Given the description of an element on the screen output the (x, y) to click on. 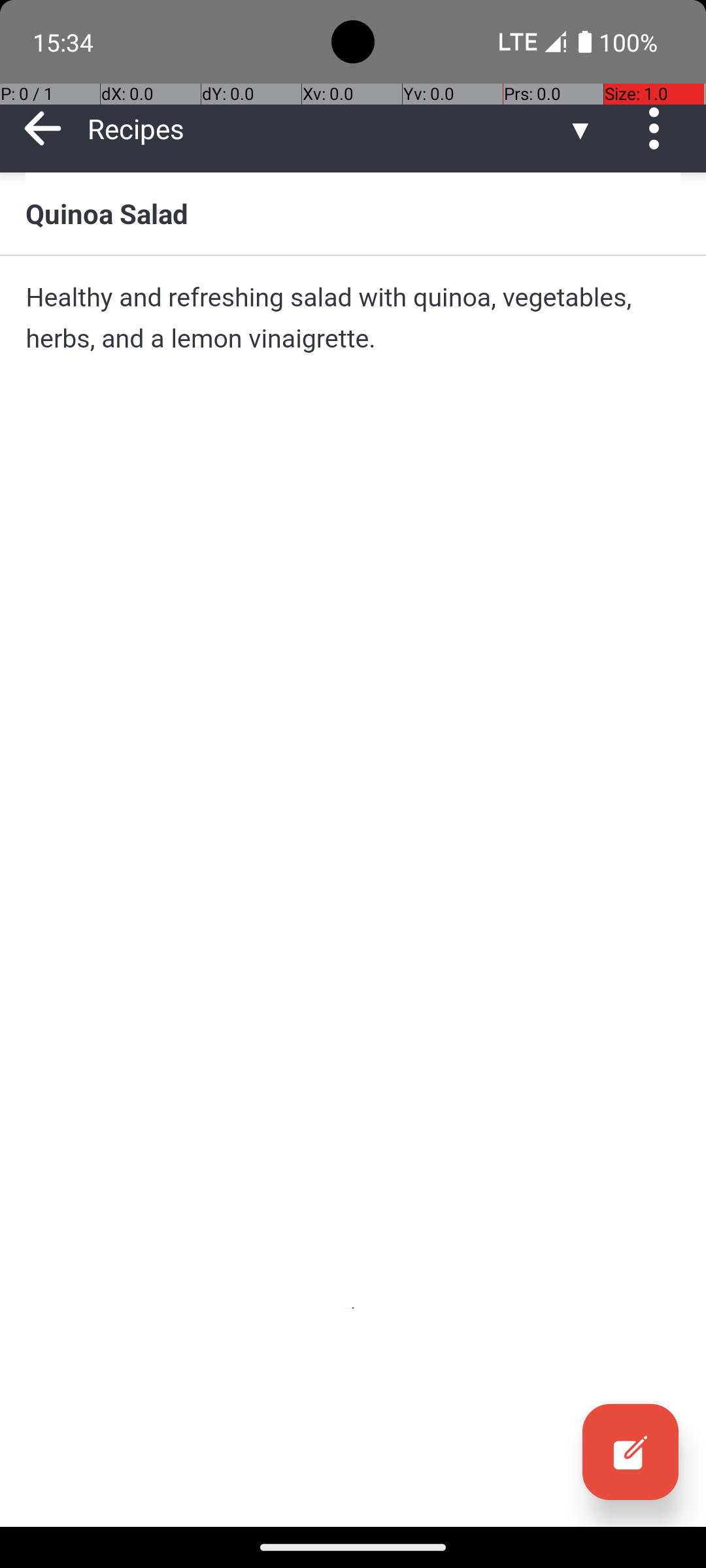
Quinoa Salad Element type: android.widget.EditText (352, 213)
Healthy and refreshing salad with quinoa, vegetables, herbs, and a lemon vinaigrette. Element type: android.widget.TextView (352, 317)
